Given the description of an element on the screen output the (x, y) to click on. 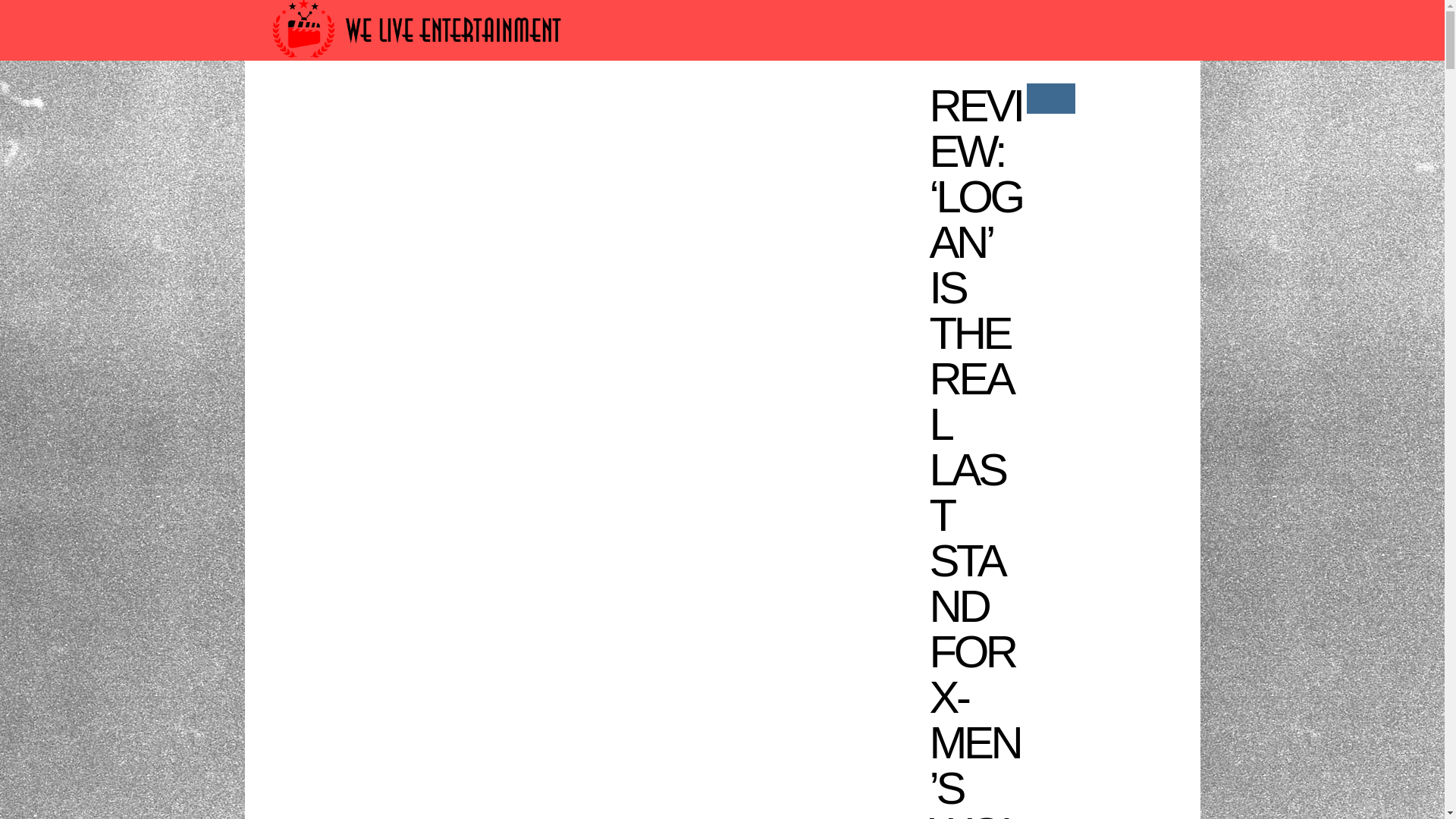
WE LIVE TV SHOWS (671, 103)
WE LIVE AWARDS (421, 103)
We Live Entertainment (418, 63)
HOME (325, 103)
WE LIVE FILM (542, 103)
WE LIVE ENTERTAINMENT (841, 103)
